Given the description of an element on the screen output the (x, y) to click on. 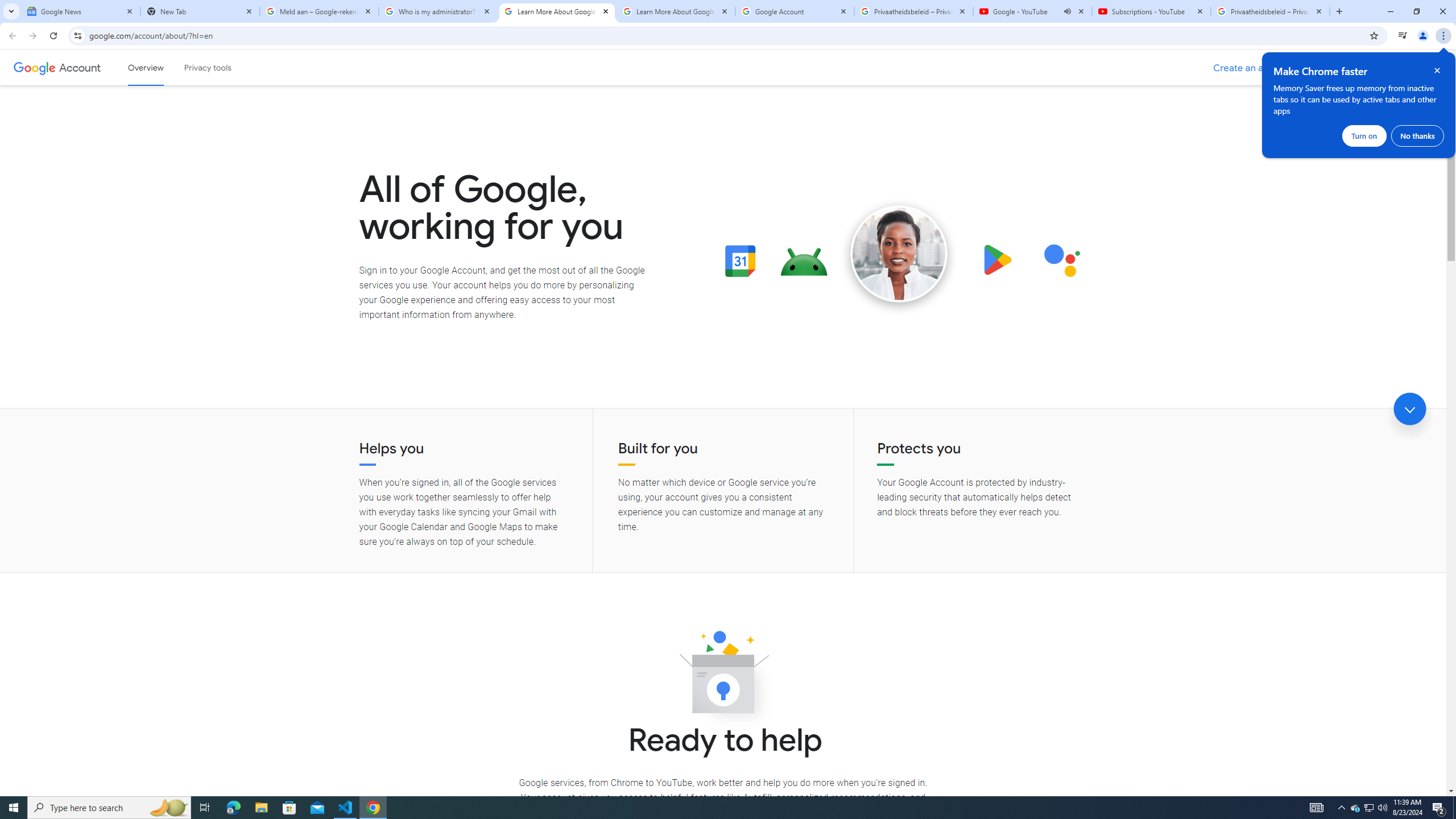
No thanks (1417, 135)
Create a Google Account (1253, 67)
Google Account (794, 11)
Google - YouTube - Audio playing (1032, 11)
Skip to Content (162, 65)
Privacy tools (207, 67)
Google logo (34, 67)
Ready to help (722, 675)
